Given the description of an element on the screen output the (x, y) to click on. 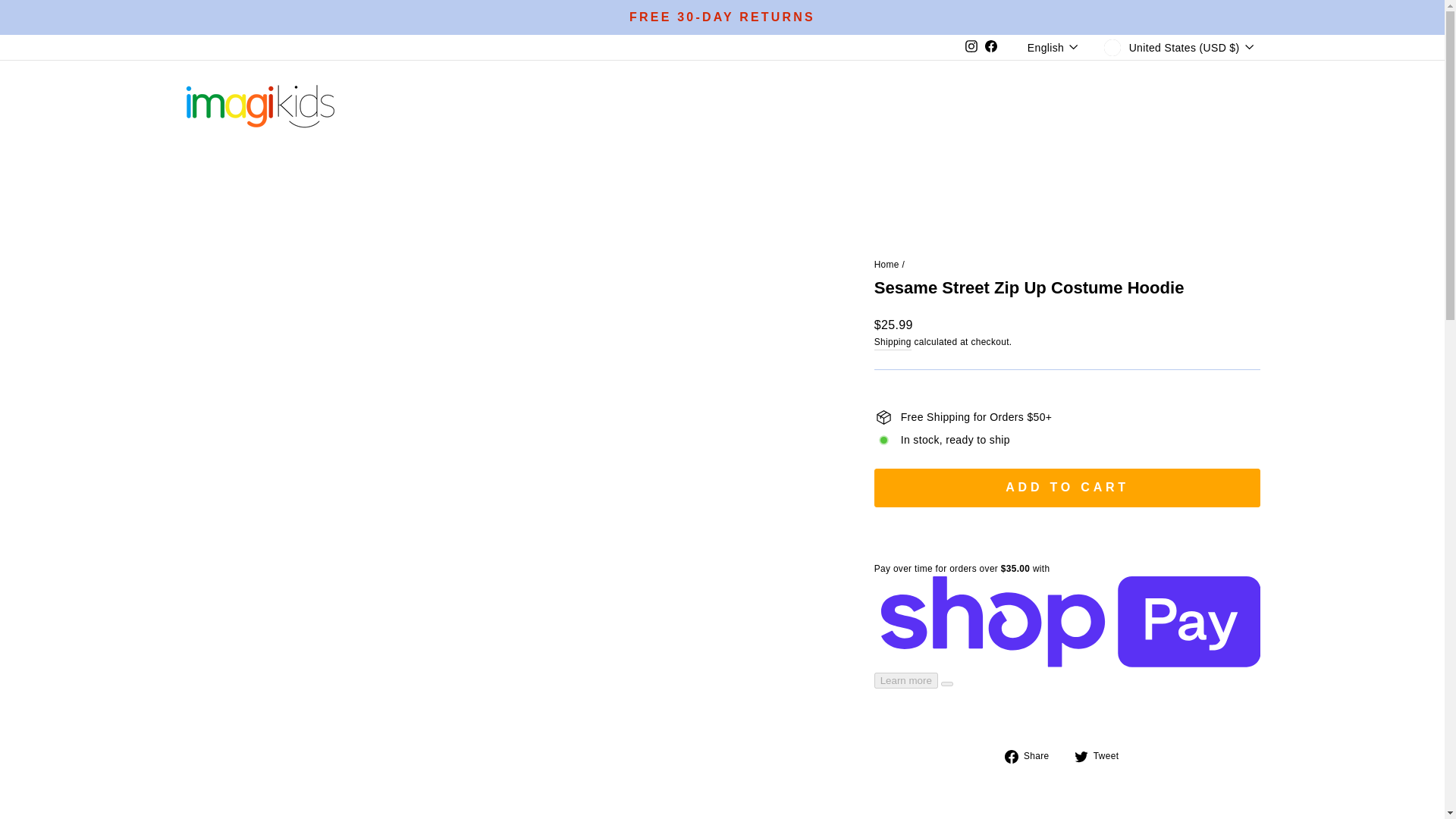
imagikids on Instagram (970, 47)
Share on Facebook (1032, 754)
Tweet on Twitter (1102, 754)
imagikids on Facebook (991, 47)
Back to the frontpage (887, 264)
